Given the description of an element on the screen output the (x, y) to click on. 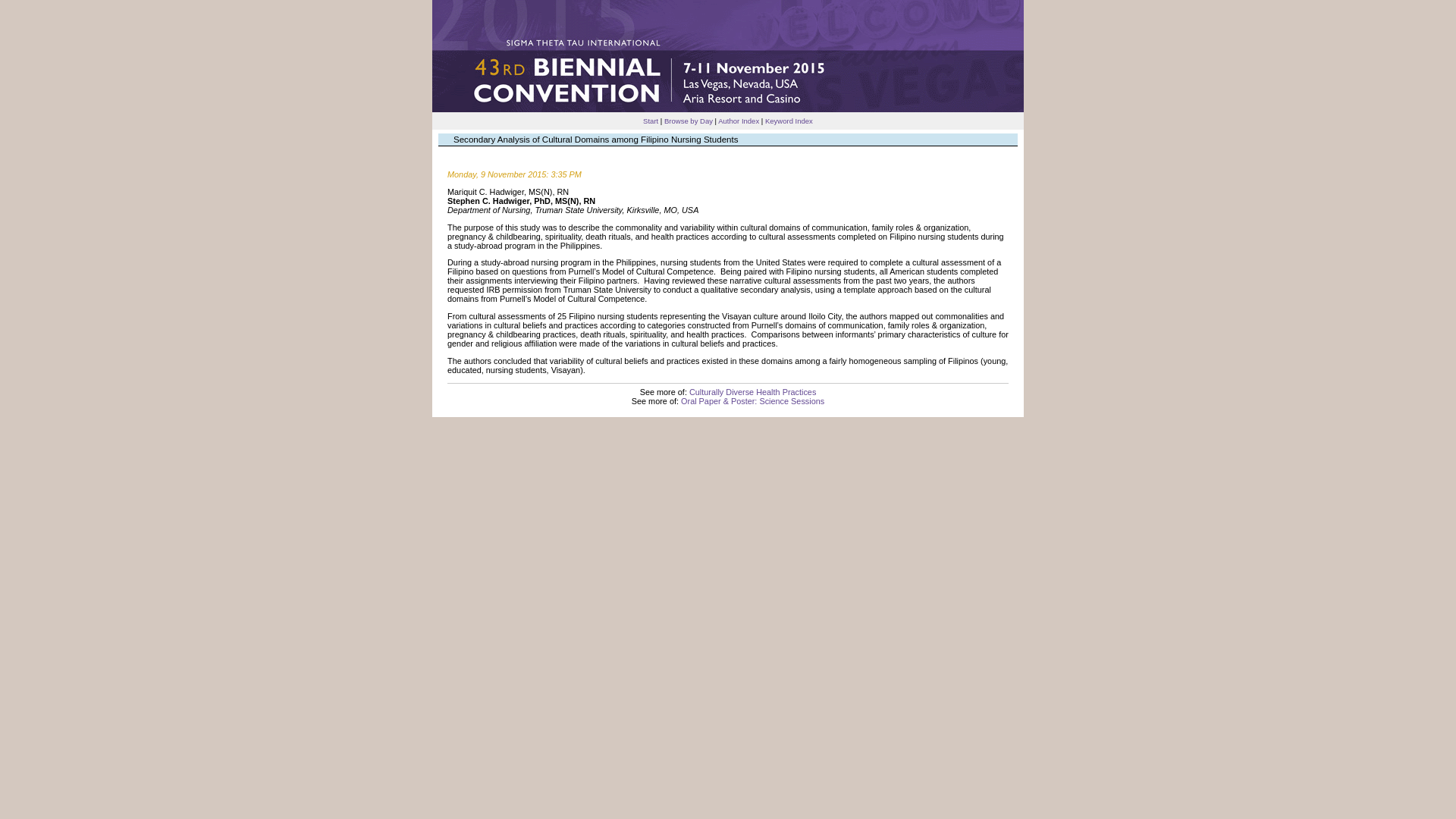
Keyword Index (788, 121)
Start (650, 121)
Culturally Diverse Health Practices (751, 391)
Browse by Day (688, 121)
Author Index (737, 121)
